Given the description of an element on the screen output the (x, y) to click on. 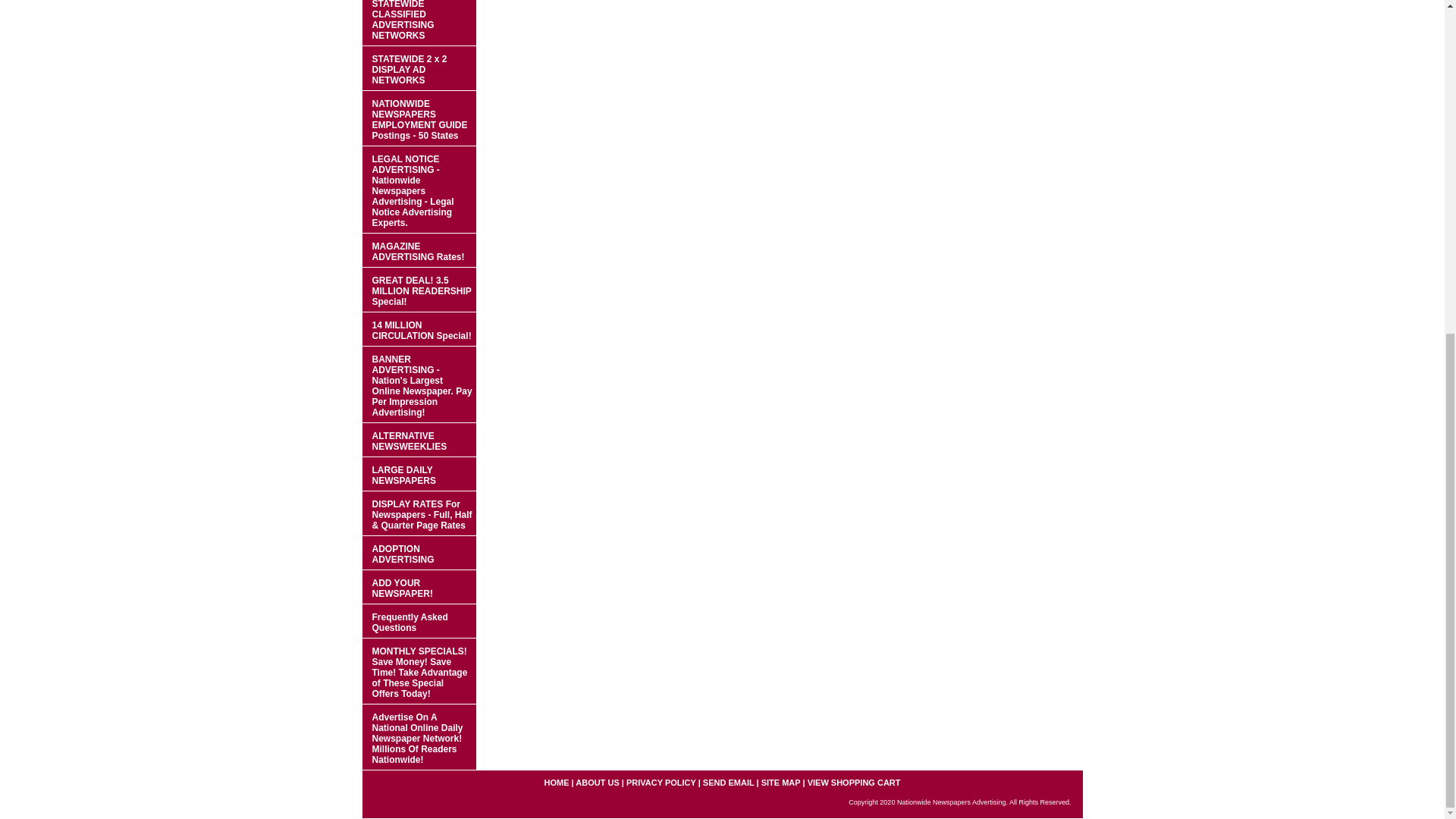
Frequently Asked Questions (419, 621)
ADOPTION ADVERTISING (419, 553)
14 MILLION CIRCULATION Special! (419, 329)
MAGAZINE  ADVERTISING Rates! (419, 250)
GREAT DEAL! 3.5 MILLION READERSHIP Special! (419, 289)
STATEWIDE 2 x 2 DISPLAY AD NETWORKS (419, 67)
LARGE DAILY NEWSPAPERS (419, 474)
GREAT DEAL!  3.5 MILLION READERSHIP Special! (419, 289)
ABOUT US (596, 782)
